Given the description of an element on the screen output the (x, y) to click on. 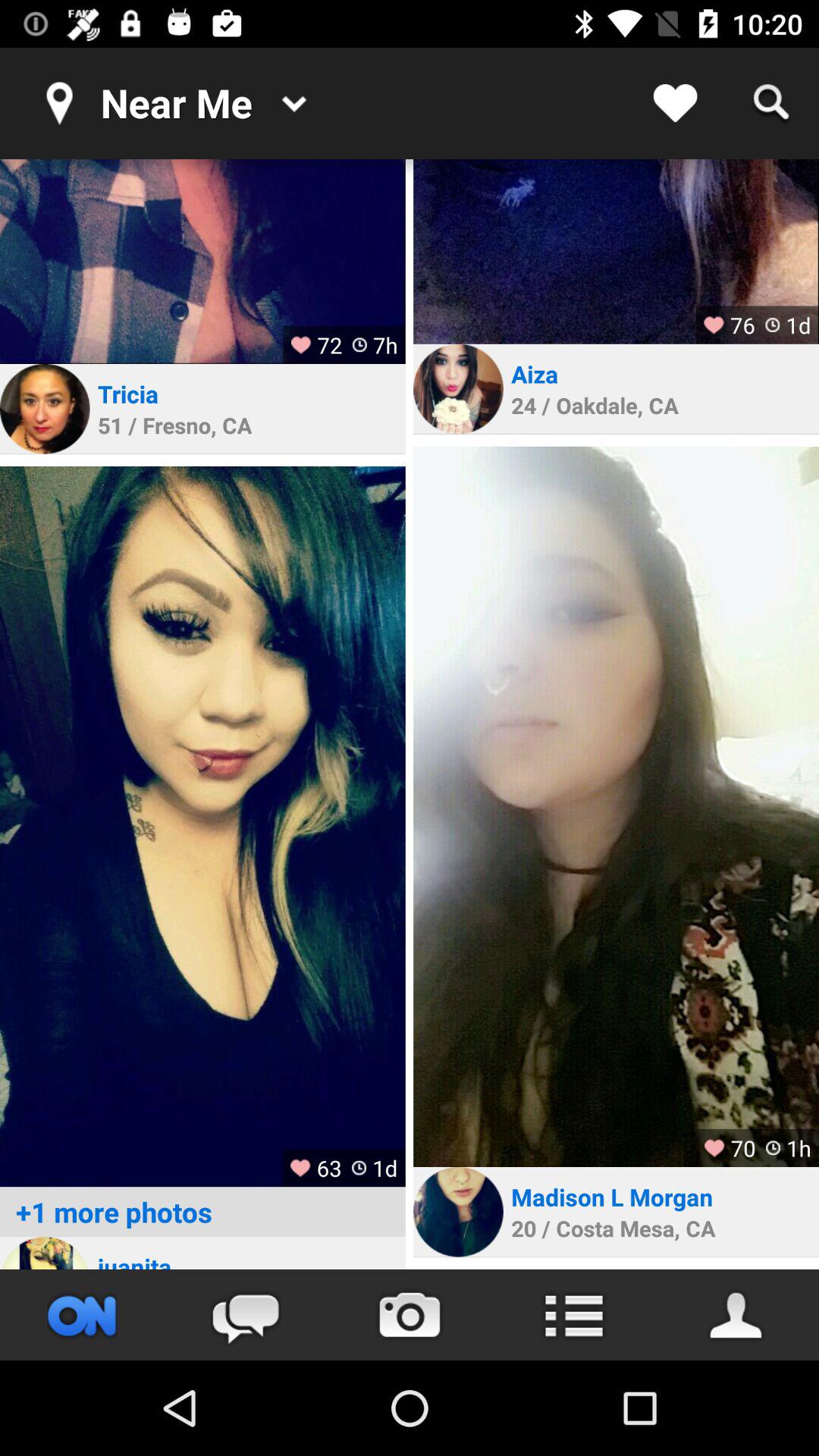
go to setting (573, 1315)
